Given the description of an element on the screen output the (x, y) to click on. 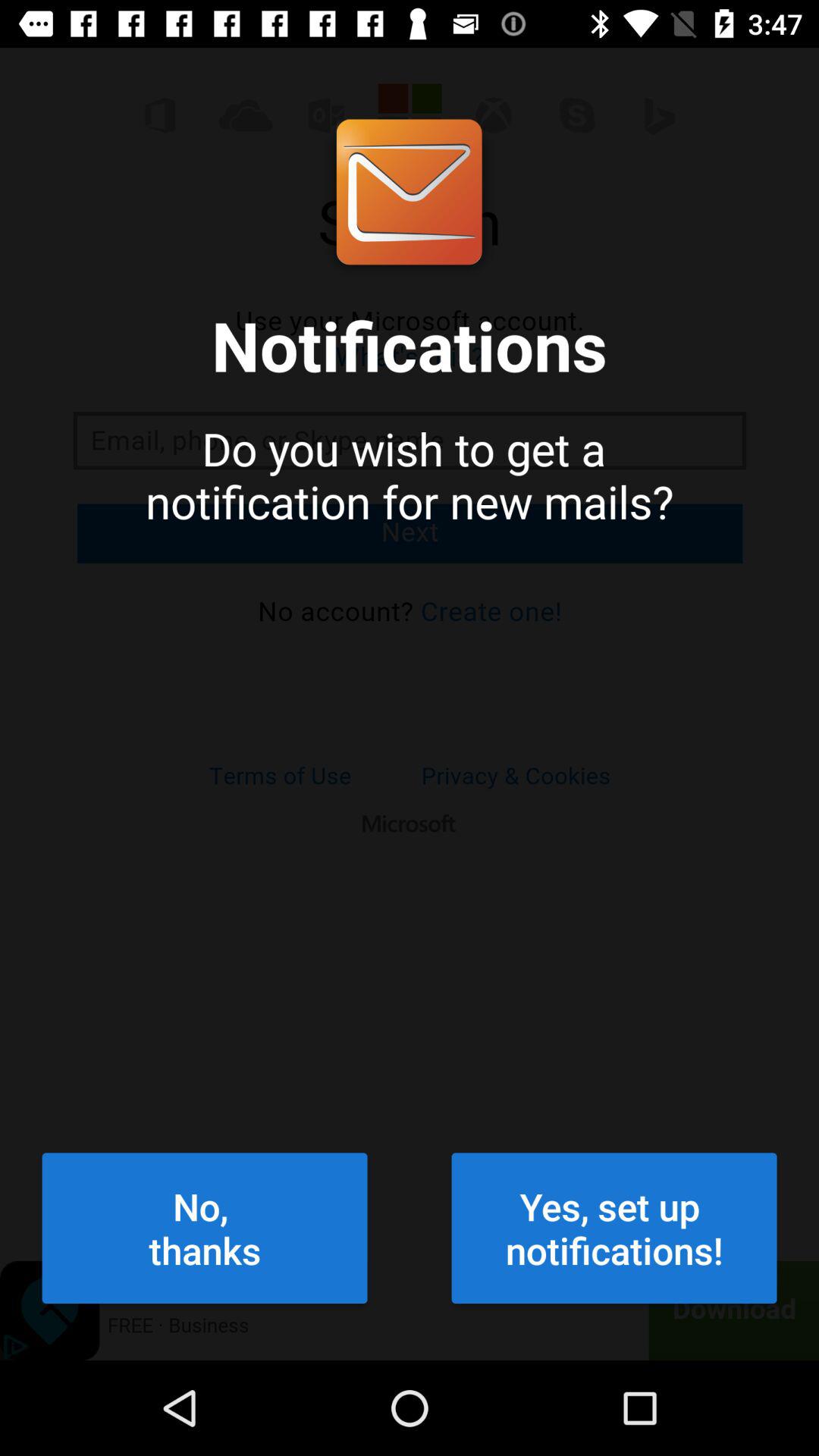
swipe to no, 
thanks item (204, 1227)
